Given the description of an element on the screen output the (x, y) to click on. 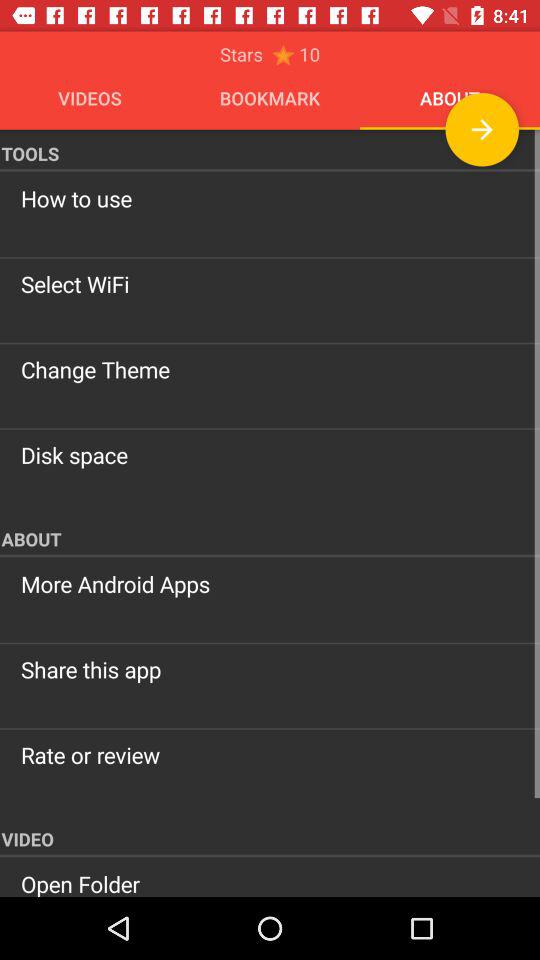
click the item above the how to use item (270, 150)
